Given the description of an element on the screen output the (x, y) to click on. 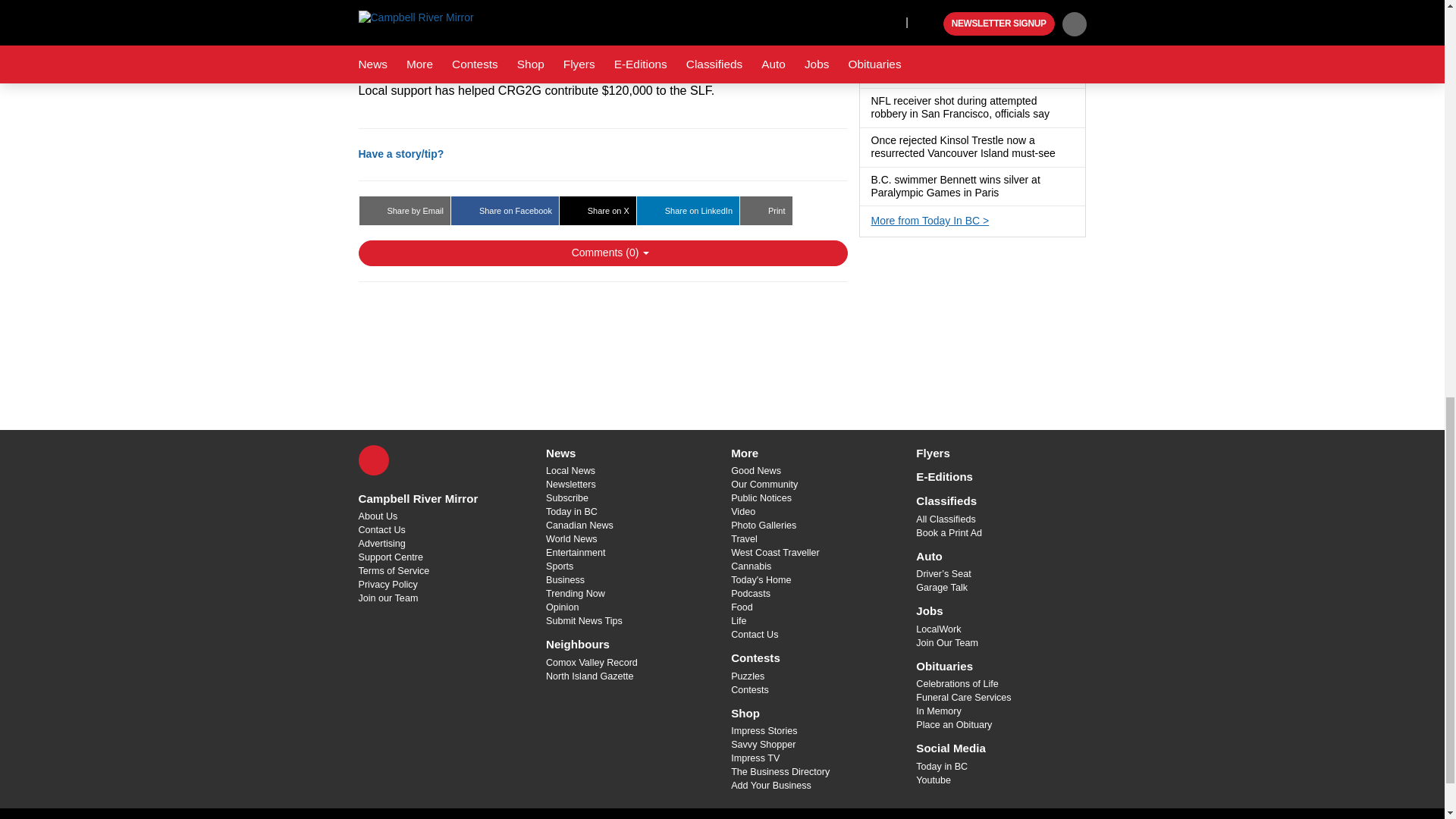
Show Comments (602, 253)
X (373, 460)
Has a gallery (1064, 153)
